Given the description of an element on the screen output the (x, y) to click on. 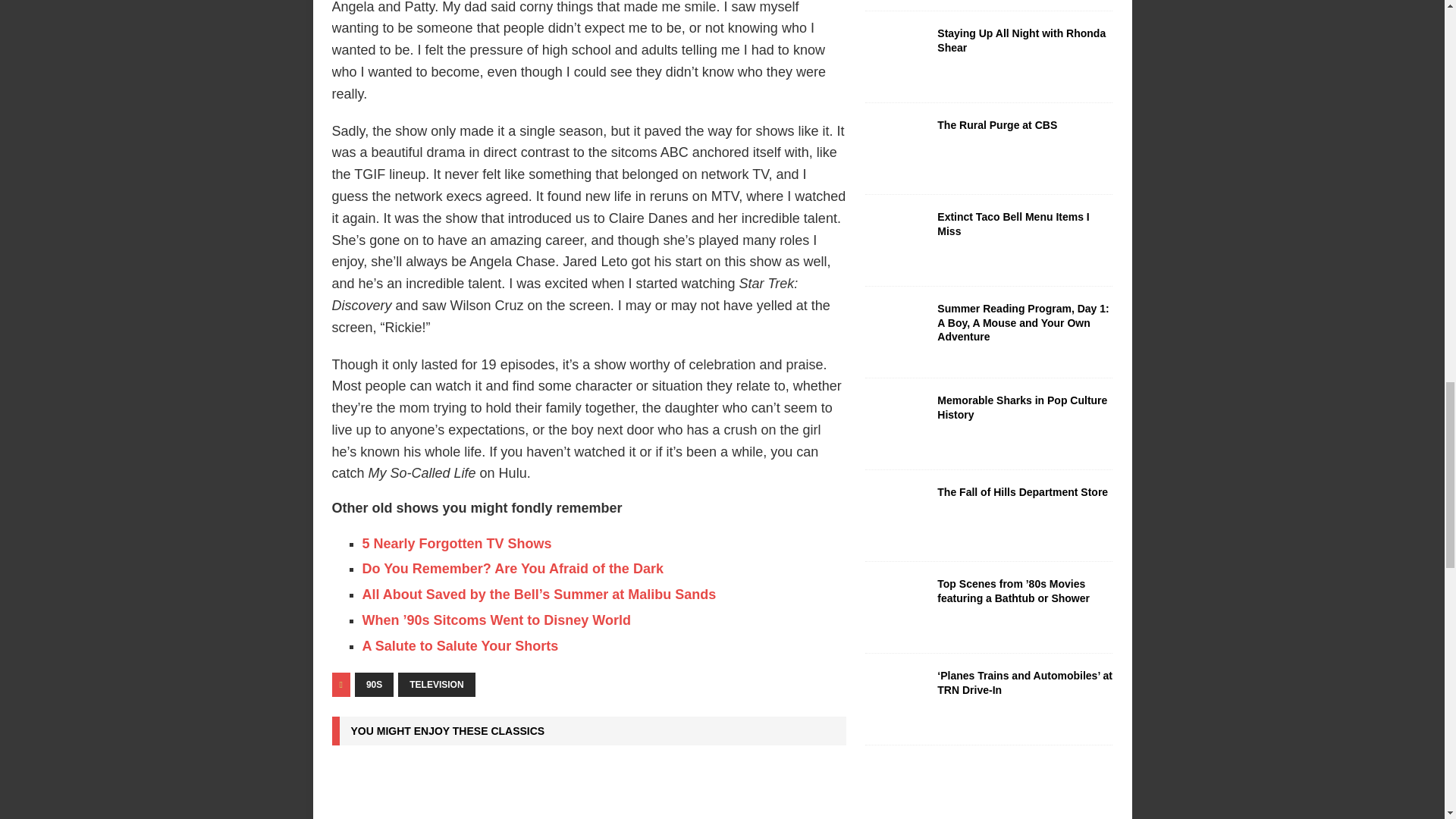
VHS Collecting: A Visual Guide To Retro Home Media (587, 789)
